Given the description of an element on the screen output the (x, y) to click on. 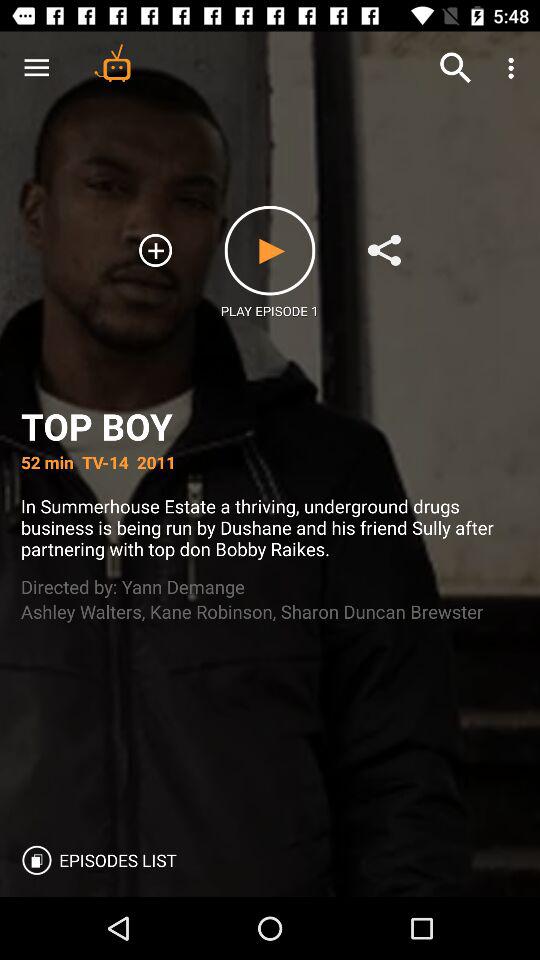
press the item above play episode 1 (269, 250)
